Given the description of an element on the screen output the (x, y) to click on. 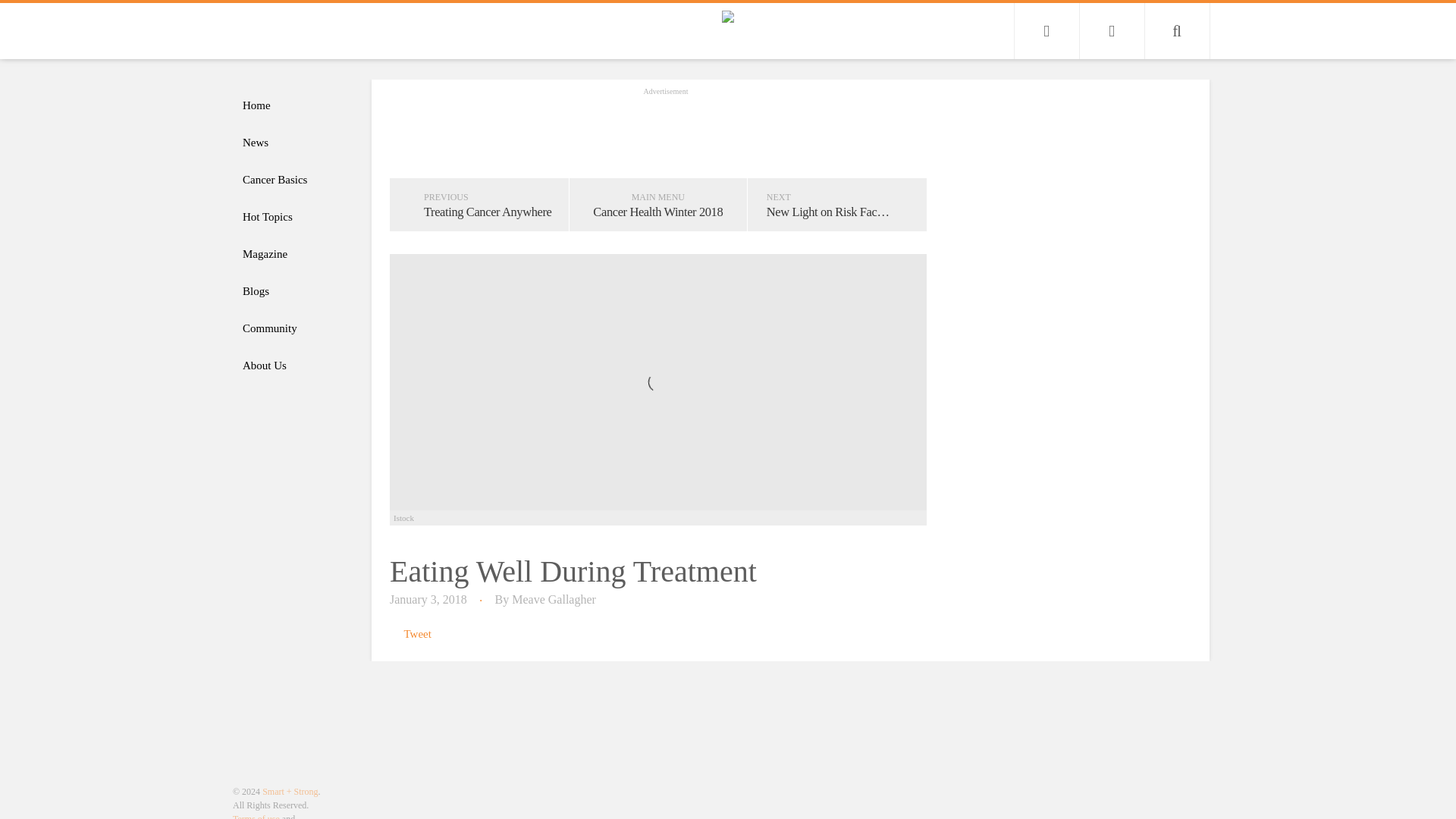
Cancer Basics (294, 180)
Hot Topics (294, 217)
News (294, 142)
Home (294, 105)
